Given the description of an element on the screen output the (x, y) to click on. 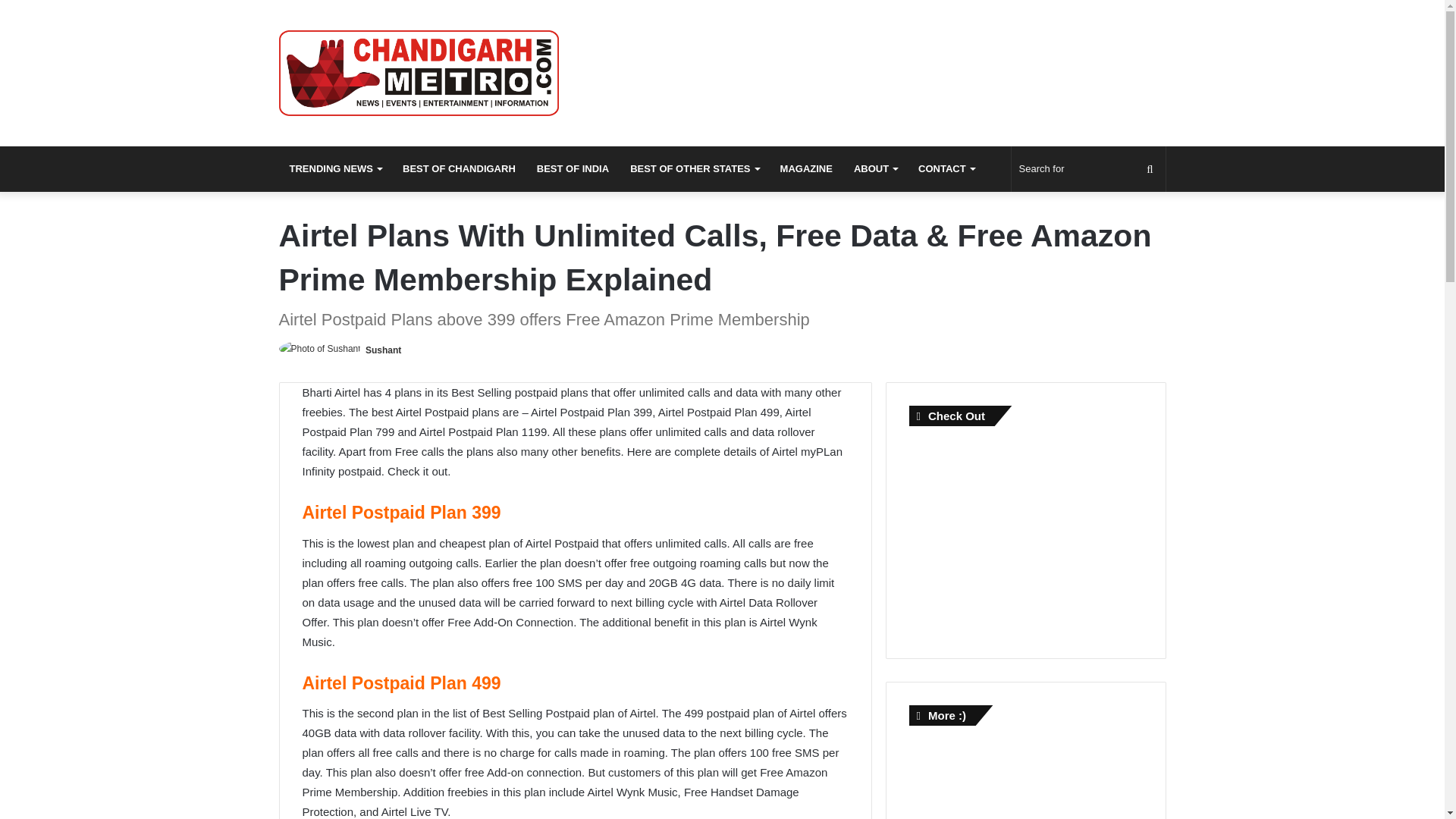
BEST OF OTHER STATES (694, 168)
MAGAZINE (806, 168)
BEST OF INDIA (572, 168)
Sushant (383, 349)
Chandigarh Metro (419, 73)
Sushant (383, 349)
CONTACT (946, 168)
TRENDING NEWS (336, 168)
ABOUT (875, 168)
Search for (1149, 168)
Search for (1088, 168)
BEST OF CHANDIGARH (458, 168)
